Given the description of an element on the screen output the (x, y) to click on. 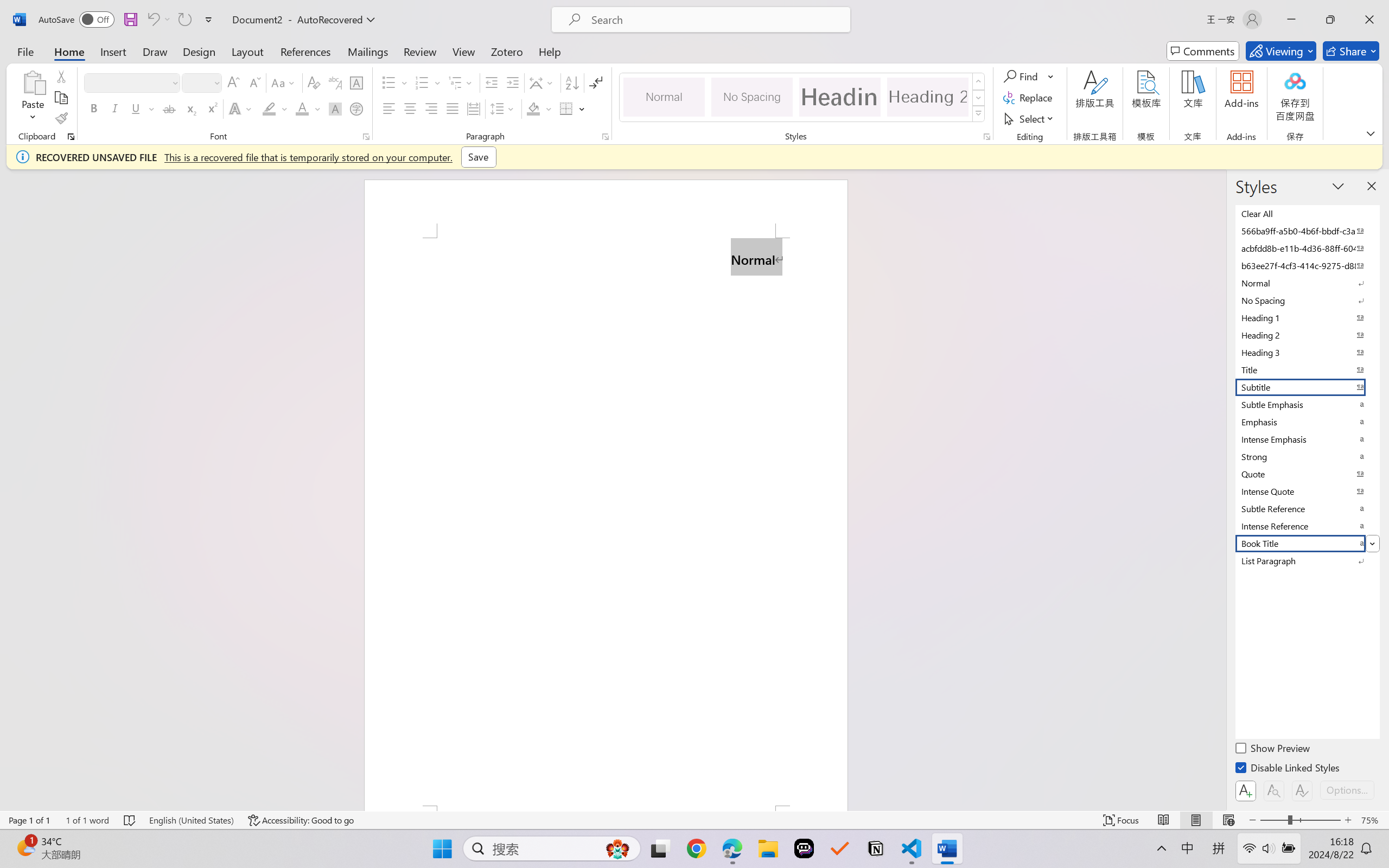
Heading 3 (1306, 352)
Intense Quote (1306, 490)
Shrink Font (253, 82)
Class: NetUIButton (1301, 790)
Can't Undo (158, 19)
